Given the description of an element on the screen output the (x, y) to click on. 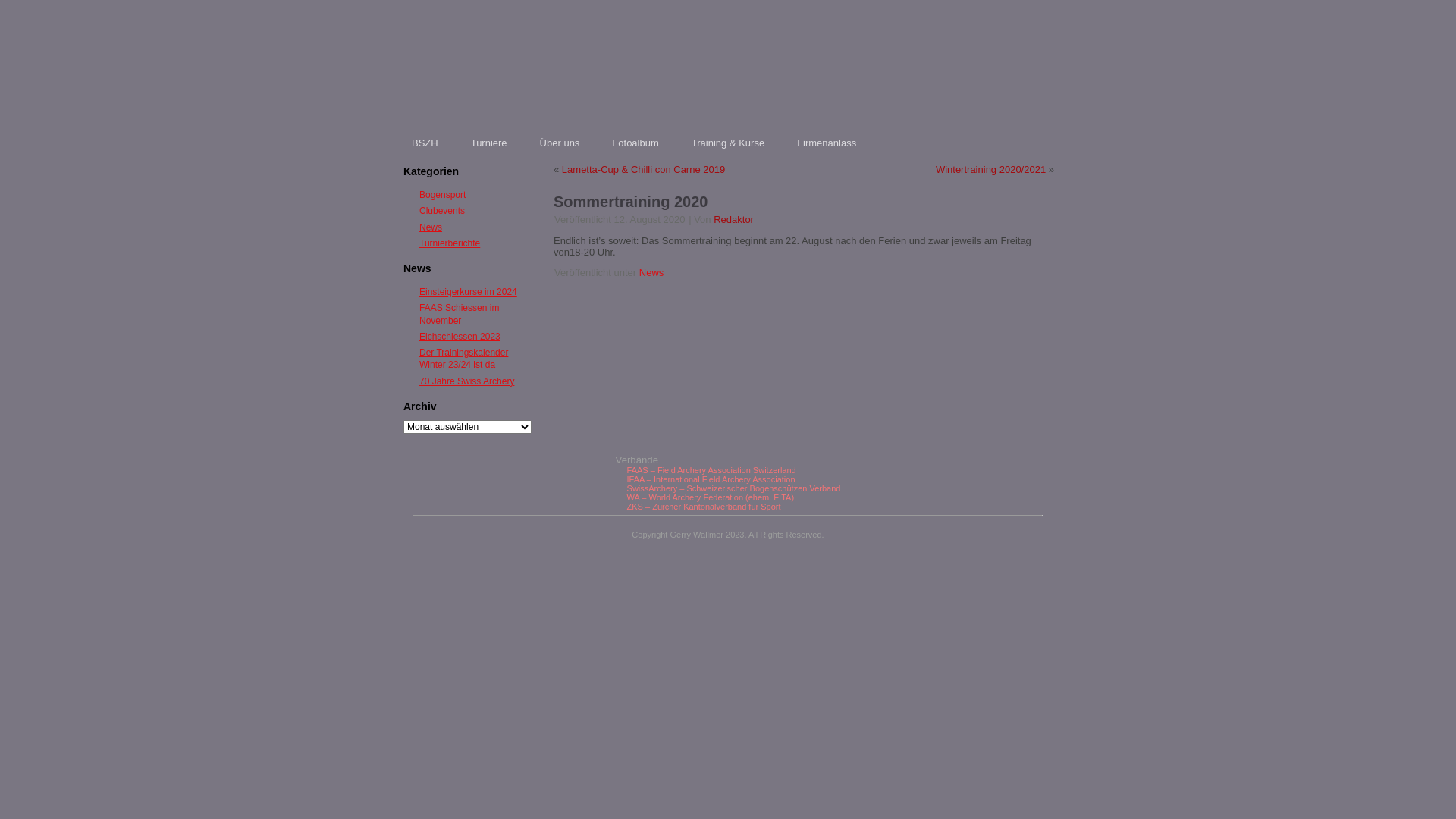
Lametta-Cup & Chilli con Carne 2019 Element type: text (642, 169)
70 Jahre Swiss Archery Element type: text (466, 381)
Turnierberichte Element type: text (449, 243)
Turniere Element type: text (489, 142)
Clubevents Element type: text (441, 210)
Wintertraining 2020/2021 Element type: text (990, 169)
Fotoalbum Element type: text (635, 142)
News Element type: text (651, 272)
Elchschiessen 2023 Element type: text (459, 336)
Einsteigerkurse im 2024 Element type: text (468, 291)
FAAS Schiessen im November Element type: text (458, 313)
Training & Kurse Element type: text (727, 142)
Bogensport Element type: text (442, 194)
News Element type: text (430, 226)
BSZH Element type: text (424, 142)
Der Trainingskalender Winter 23/24 ist da Element type: text (463, 358)
Redaktor Element type: text (733, 219)
Firmenanlass Element type: text (826, 142)
